Given the description of an element on the screen output the (x, y) to click on. 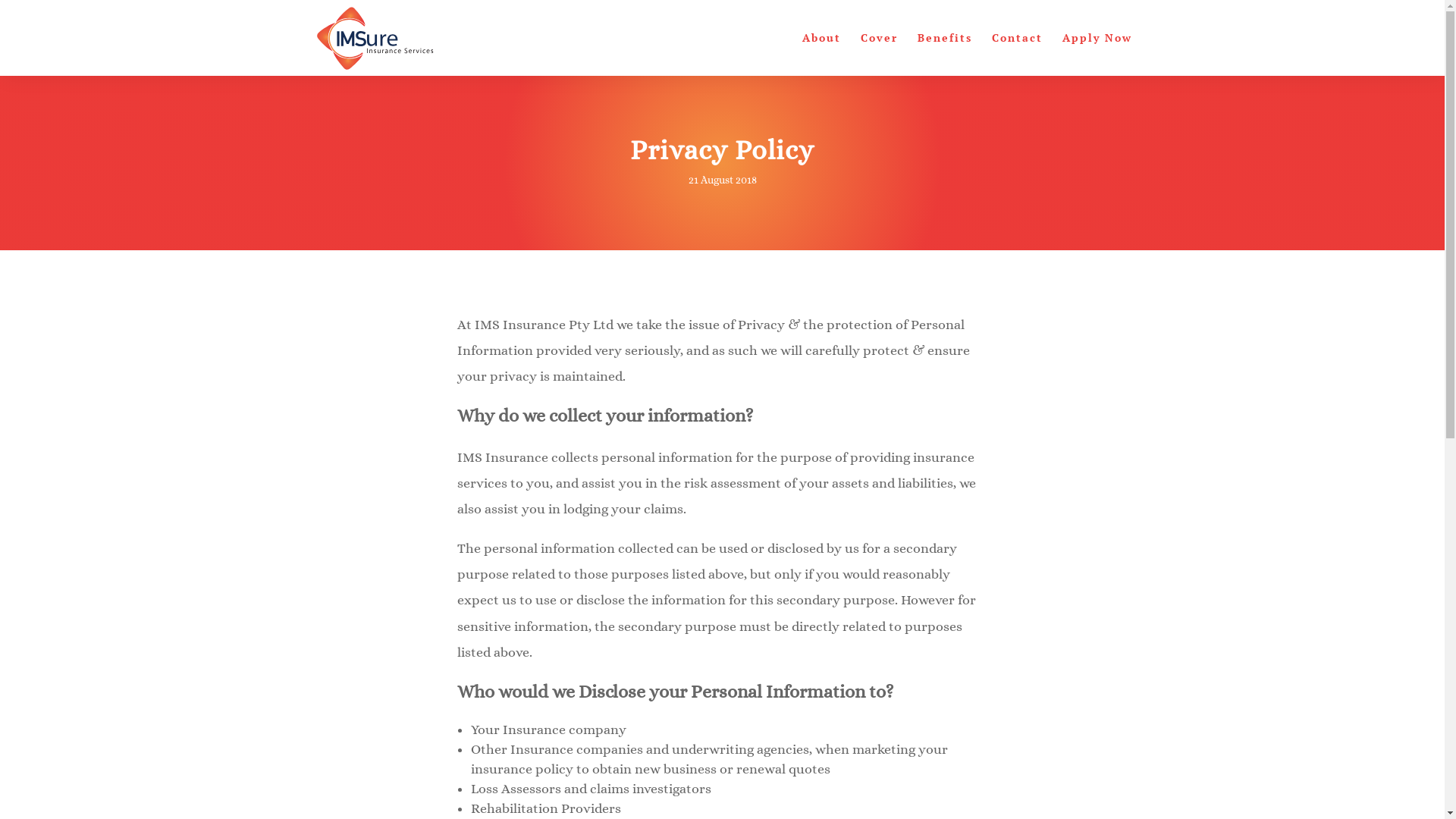
Apply Now Element type: text (1096, 53)
About Element type: text (821, 53)
Cover Element type: text (878, 53)
Contact Element type: text (1016, 53)
Benefits Element type: text (944, 53)
